Given the description of an element on the screen output the (x, y) to click on. 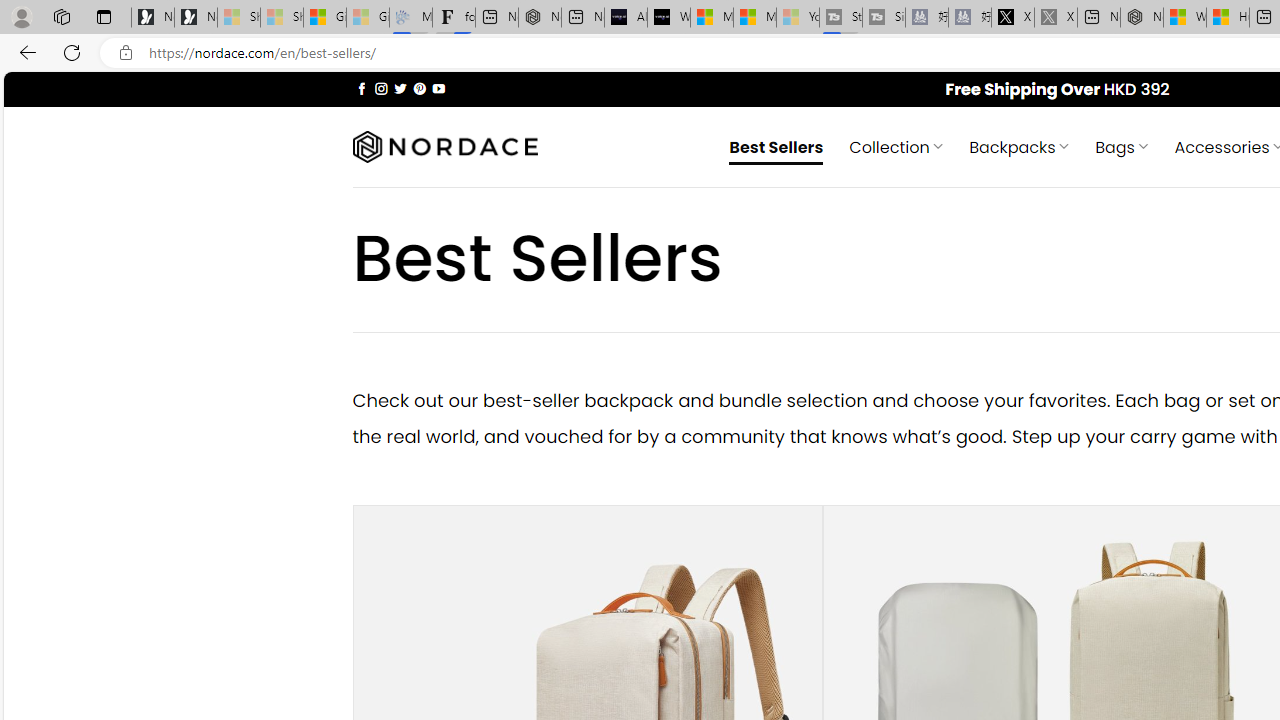
 Best Sellers (776, 146)
